Given the description of an element on the screen output the (x, y) to click on. 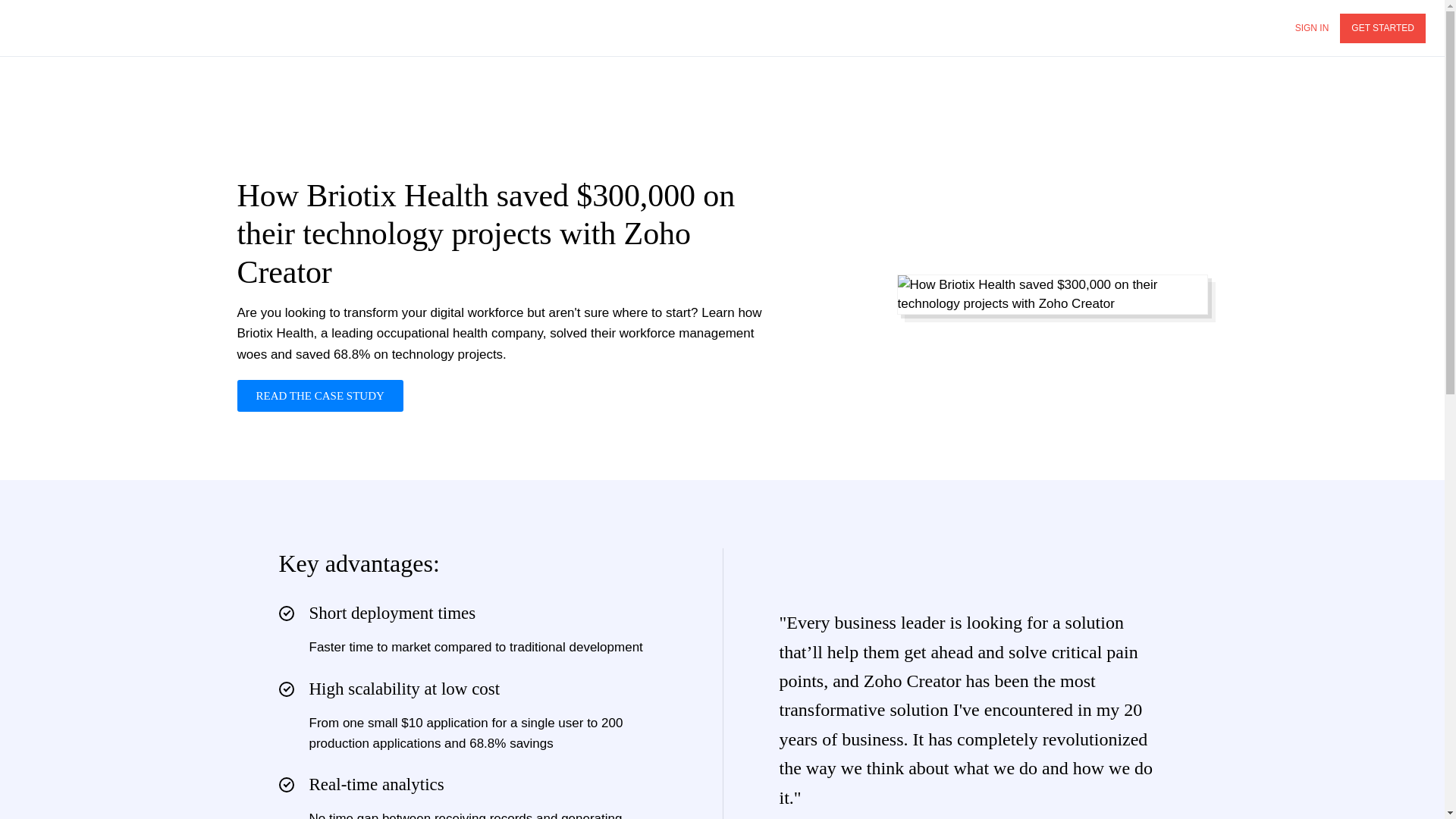
Zoho.com (60, 27)
SIGN IN (1312, 28)
GET STARTED (1382, 28)
READ THE CASE STUDY (319, 396)
